Given the description of an element on the screen output the (x, y) to click on. 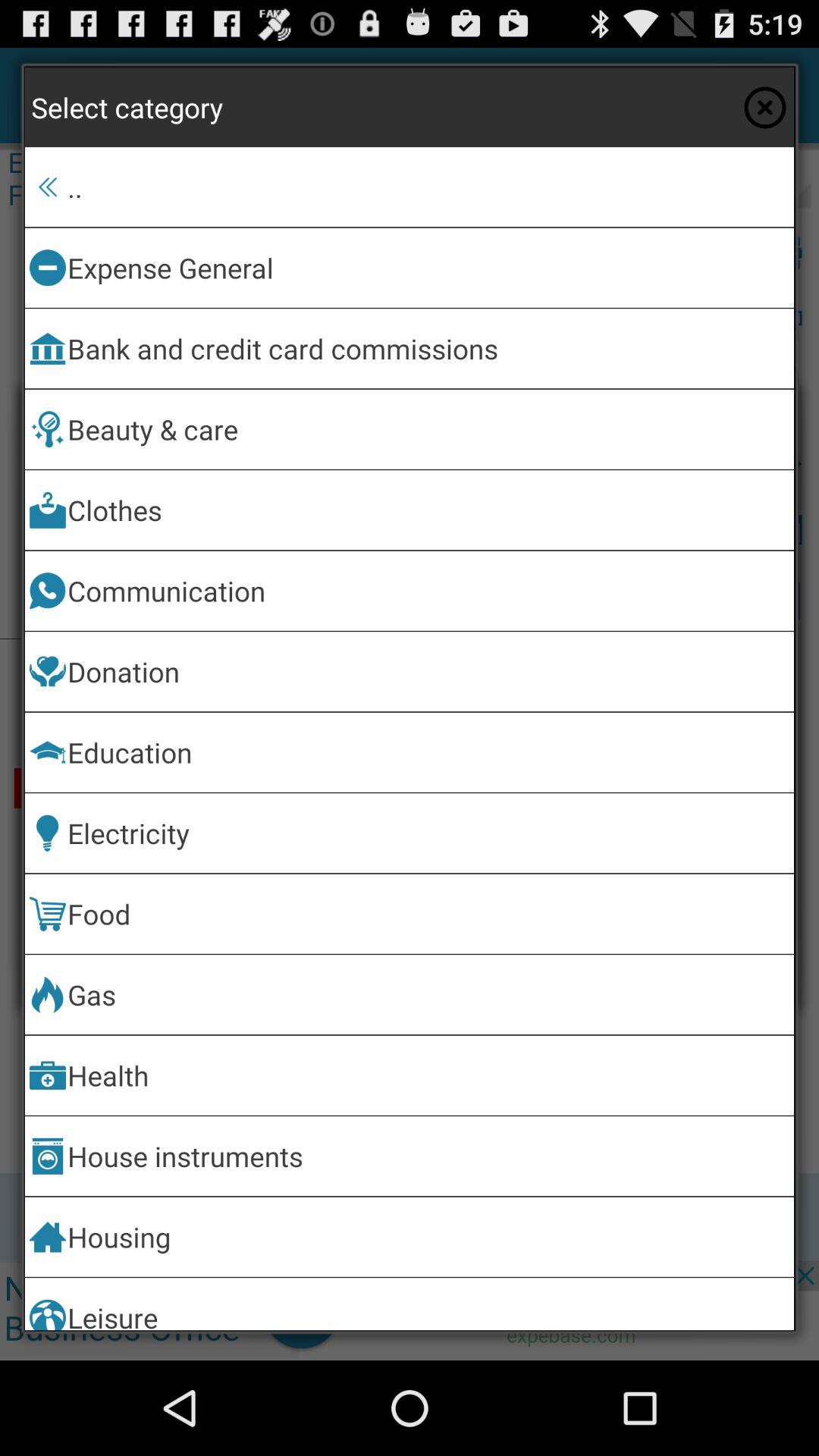
press item below house instruments icon (427, 1236)
